Given the description of an element on the screen output the (x, y) to click on. 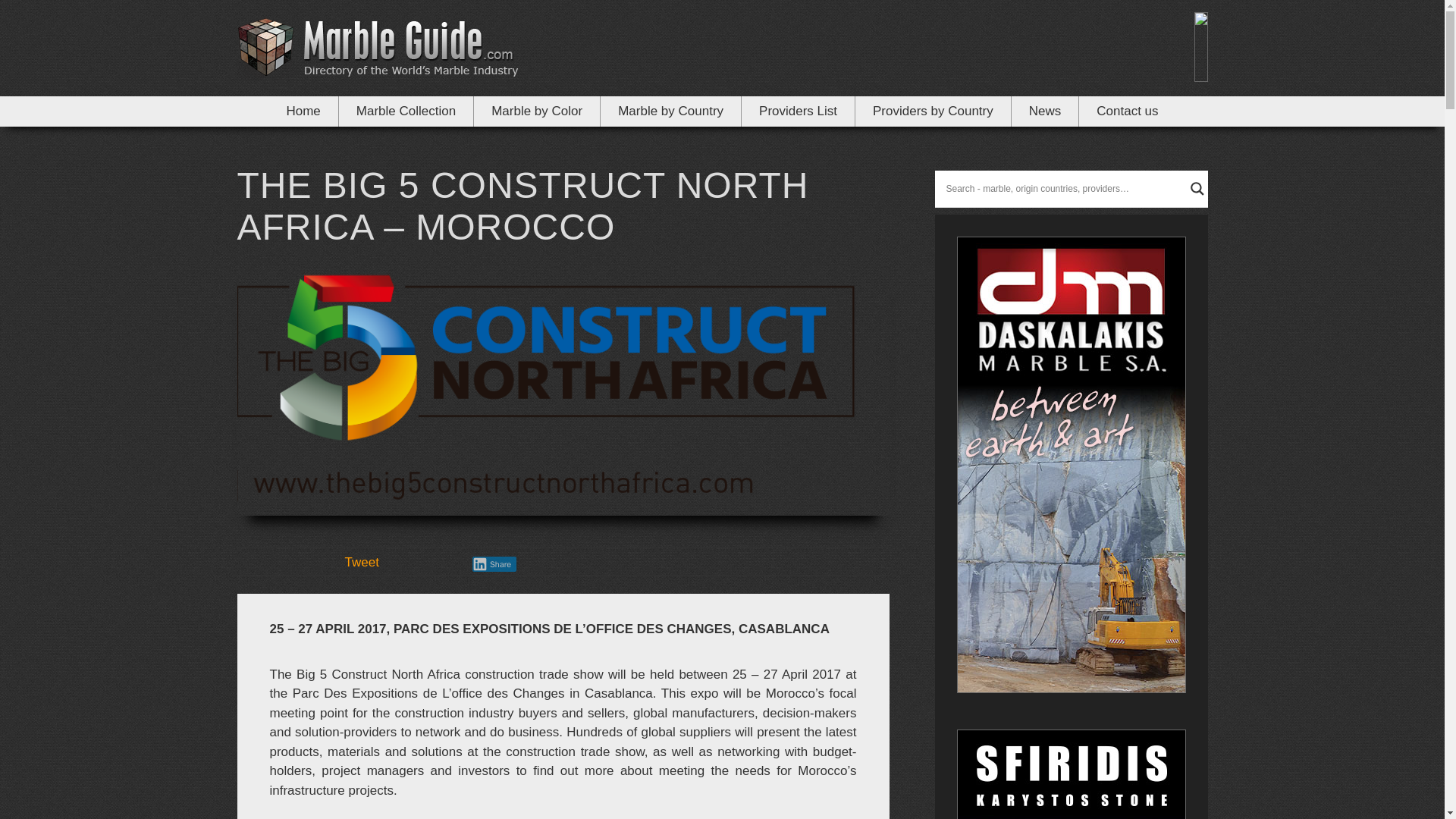
Providers by Country (933, 111)
Home (302, 111)
Contact us (1126, 111)
Providers List (798, 111)
Marble by Color (536, 111)
News (1045, 111)
Marble by Country (670, 111)
Marble Collection (406, 111)
